Given the description of an element on the screen output the (x, y) to click on. 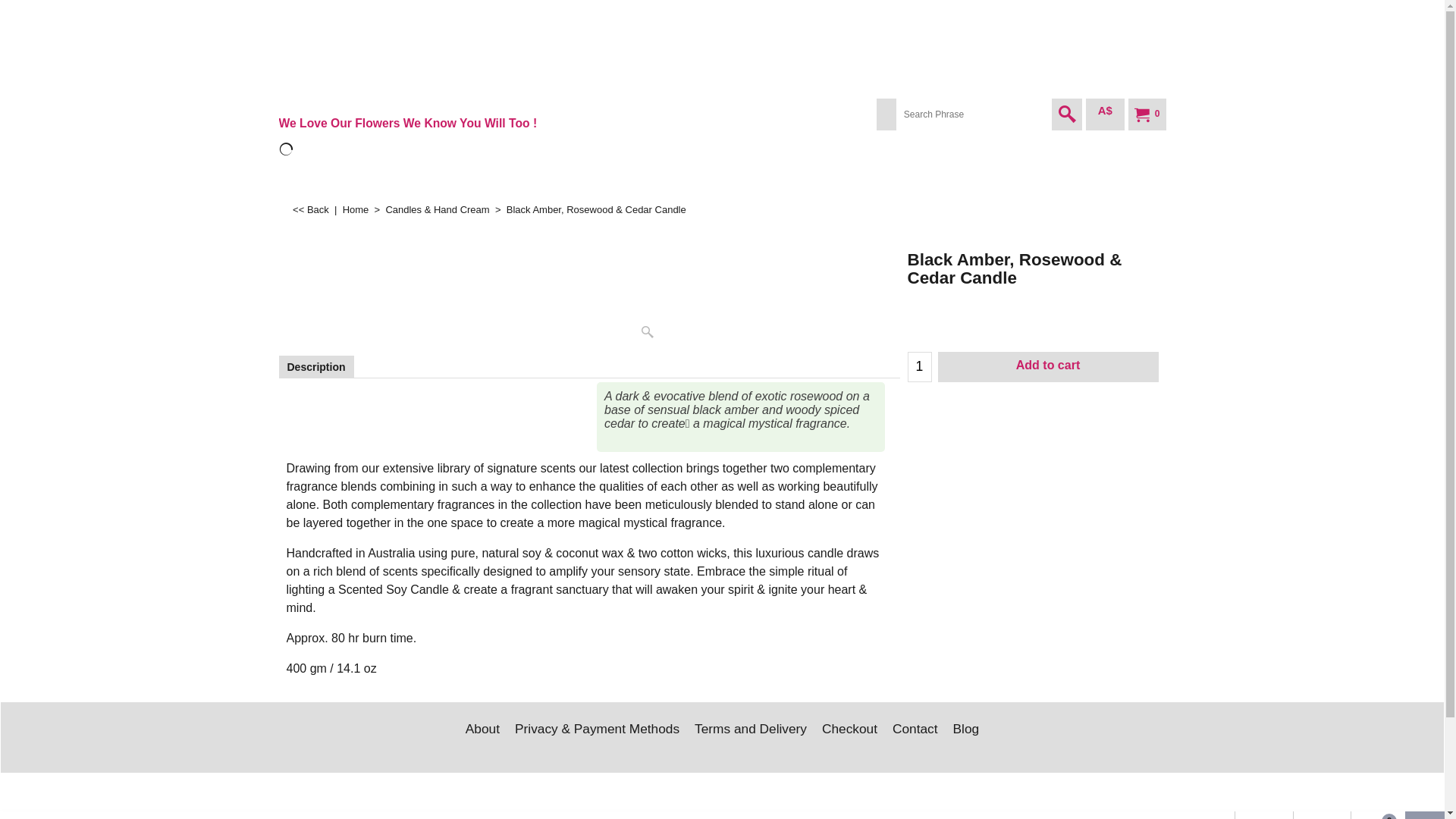
0 Element type: text (1144, 114)
Candles & Hand Cream  >  Element type: text (445, 209)
About Element type: text (482, 730)
Terms and Delivery Element type: text (750, 730)
 << Back  Element type: text (310, 209)
1 Element type: text (919, 366)
Find Element type: hover (1066, 114)
Privacy & Payment Methods Element type: text (597, 730)
Contact Element type: text (914, 730)
A$ Element type: text (1104, 114)
Blog Element type: text (966, 730)
Checkout Element type: text (849, 730)
Add to cart Element type: text (1047, 366)
Home  >  Element type: text (363, 209)
Description Element type: text (315, 366)
Black Amber, Rosewood & Cedar Candle Element type: text (1031, 279)
Black Amber, Rosewood & Cedar Element type: hover (589, 294)
